Given the description of an element on the screen output the (x, y) to click on. 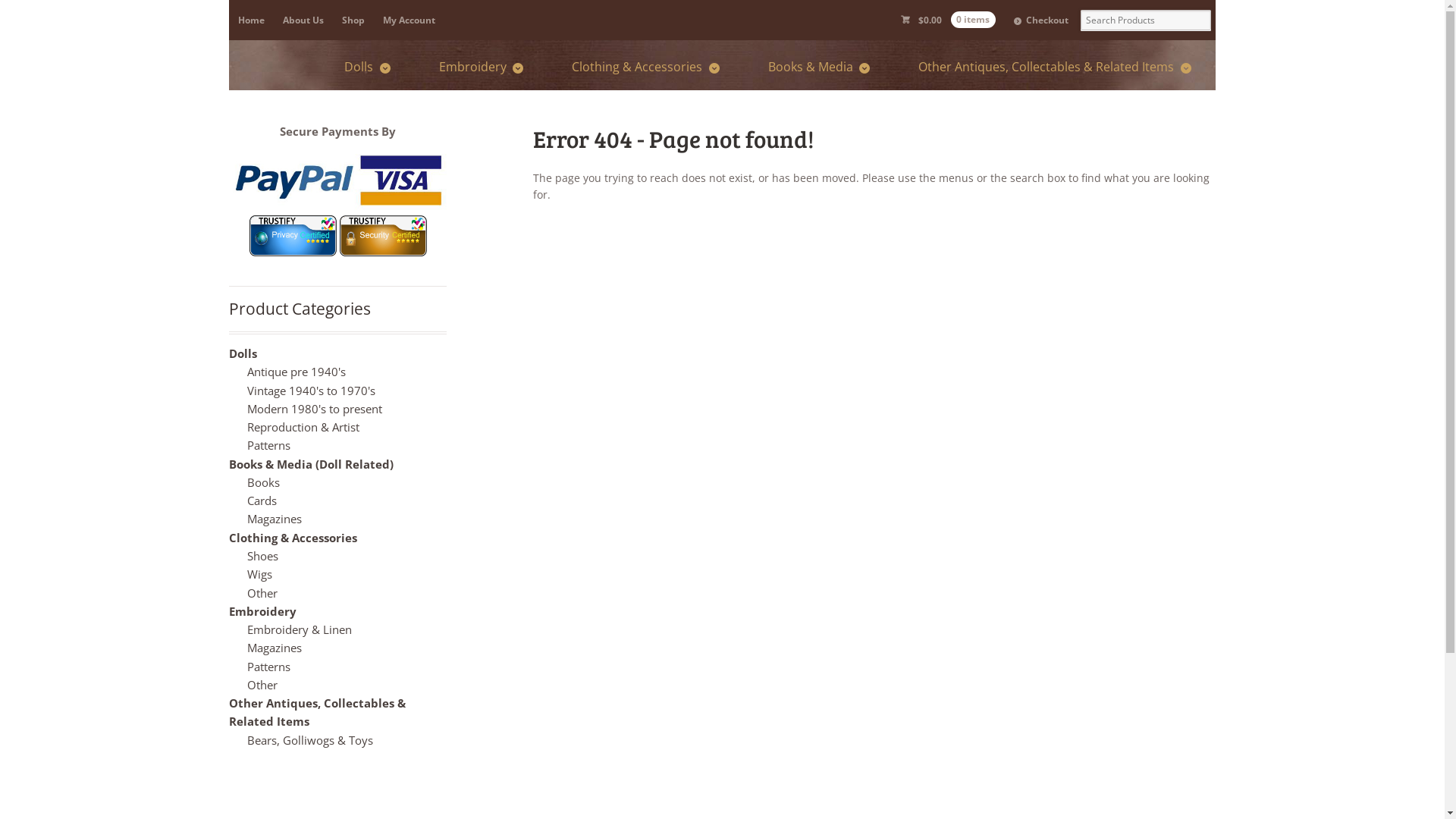
$0.000 items Element type: text (947, 20)
Shop Element type: text (352, 20)
Embroidery Element type: text (262, 610)
Clothing & Accessories Element type: text (293, 537)
Shoes Element type: text (262, 555)
Bears, Golliwogs & Toys Element type: text (310, 739)
Patterns Element type: text (268, 666)
Books Element type: text (263, 481)
Vintage 1940's to 1970's Element type: text (311, 390)
Wigs Element type: text (259, 573)
Patterns Element type: text (268, 444)
Modern 1980's to present Element type: text (314, 408)
Clothing & Accessories Element type: text (645, 66)
Checkout Element type: text (1040, 20)
Dolls Element type: text (367, 66)
Cards Element type: text (261, 500)
Magazines Element type: text (274, 647)
Antique pre 1940's Element type: text (296, 371)
Home Element type: text (251, 20)
Books & Media (Doll Related) Element type: text (311, 463)
Embroidery & Linen Element type: text (299, 629)
My Account Element type: text (408, 20)
Other Antiques, Collectables & Related Items Element type: text (1054, 66)
Reproduction & Artist Element type: text (303, 426)
Other Antiques, Collectables & Related Items Element type: text (317, 711)
About Us Element type: text (302, 20)
Other Element type: text (262, 592)
Dolls Element type: text (243, 352)
Books & Media Element type: text (818, 66)
Magazines Element type: text (274, 518)
Embroidery Element type: text (480, 66)
Other Element type: text (262, 684)
Search Element type: text (65, 10)
